Given the description of an element on the screen output the (x, y) to click on. 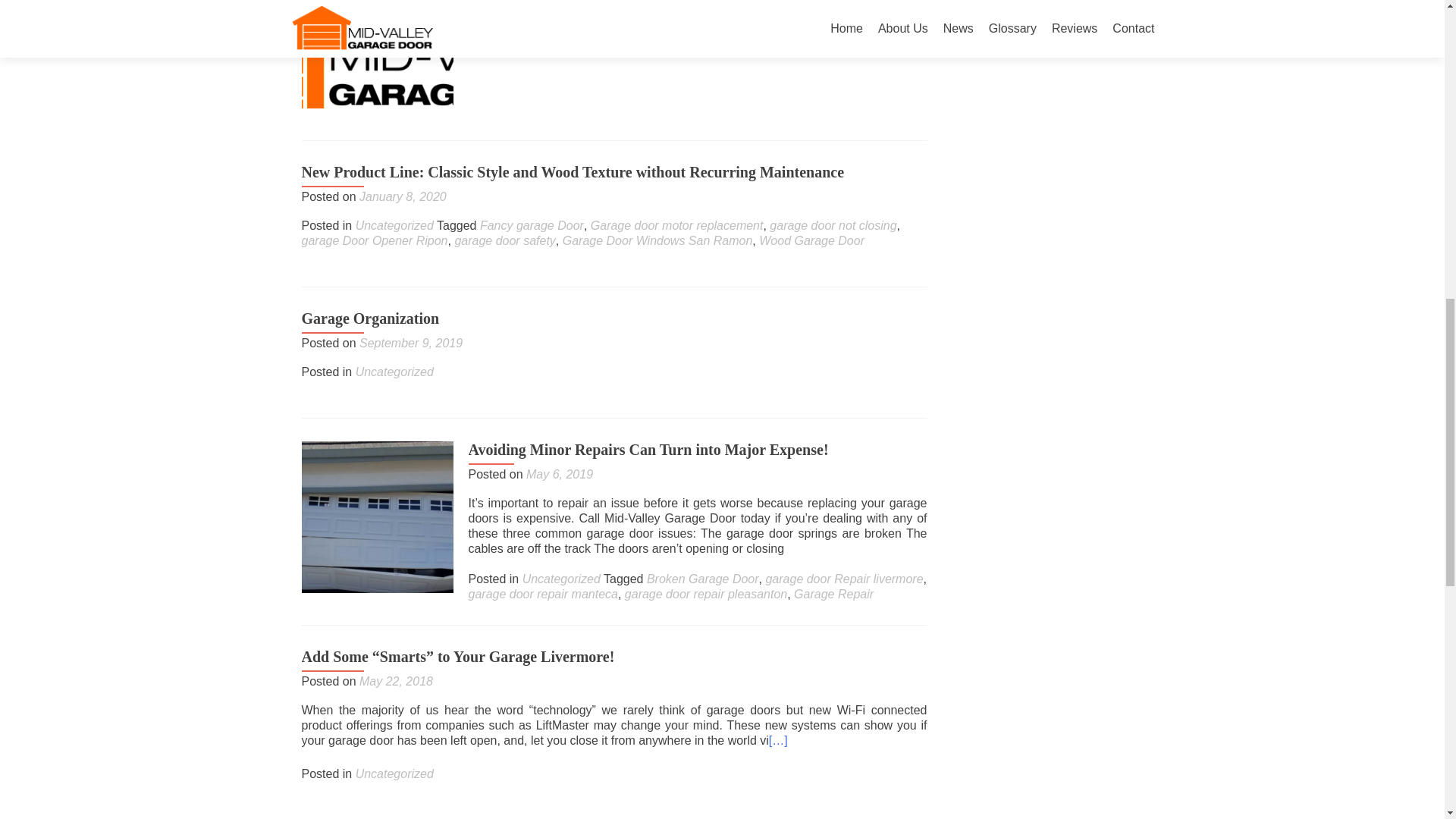
Avoiding Minor Repairs Can Turn into Major Expense! (376, 515)
garage door not closing (821, 34)
February 18, 2020 (575, 2)
Uncategorized (560, 34)
Garage Door Motor (698, 34)
